Given the description of an element on the screen output the (x, y) to click on. 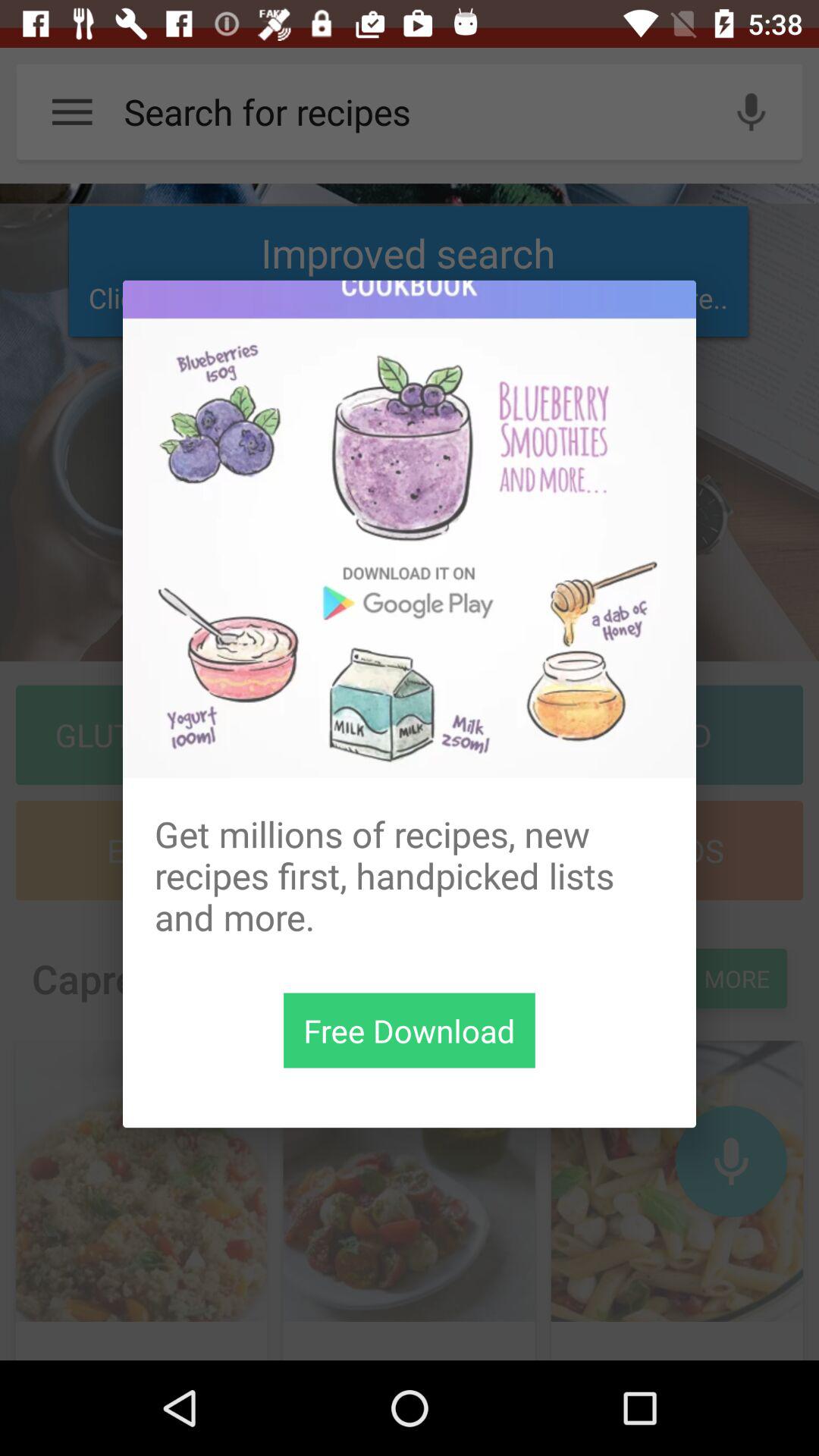
open the item above get millions of item (409, 529)
